Given the description of an element on the screen output the (x, y) to click on. 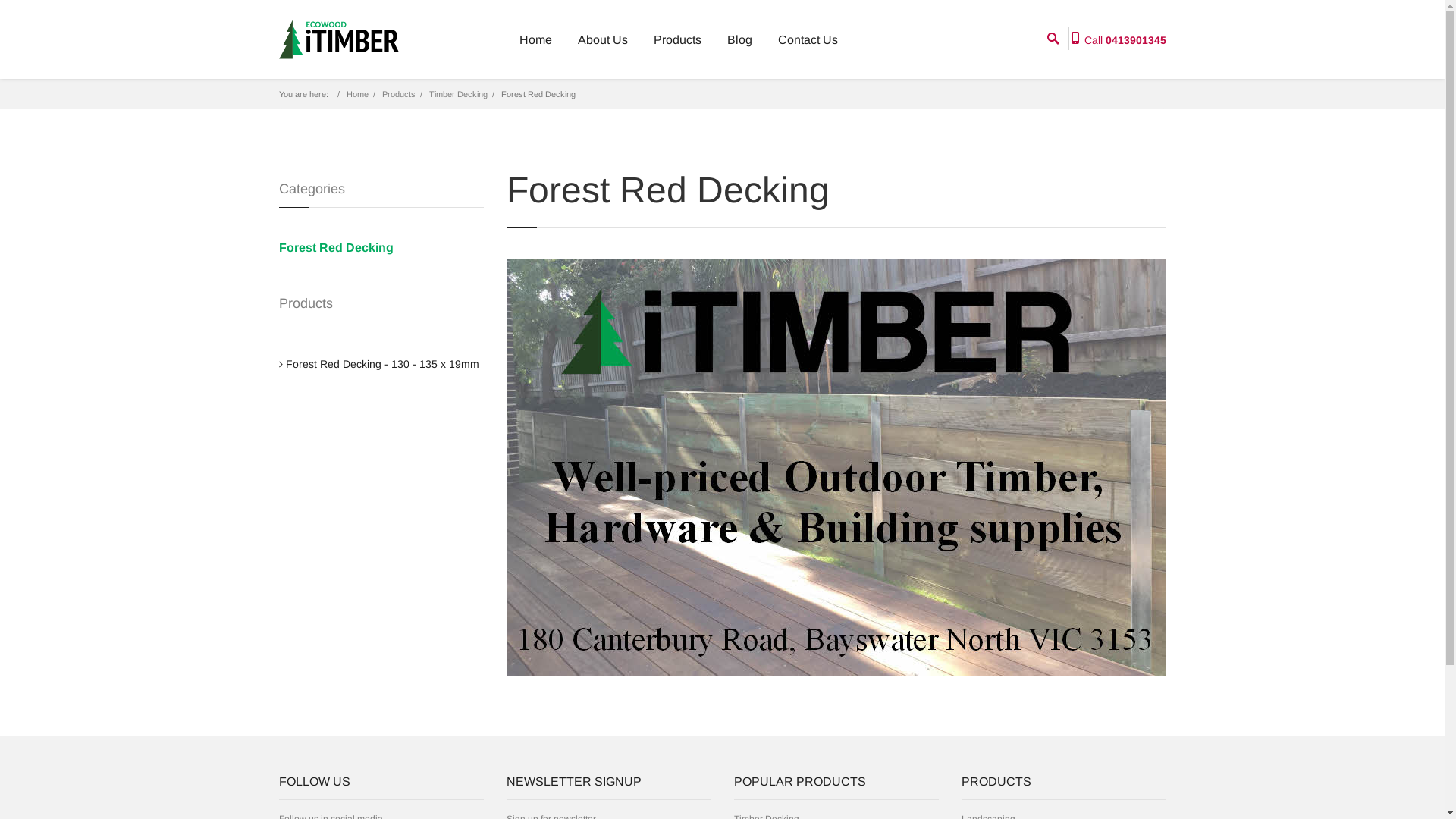
Timber Decking Element type: text (458, 93)
Home Element type: text (356, 93)
Contact Us Element type: text (807, 39)
Forest Red Decking Element type: text (381, 247)
Forest Red Decking - 130 - 135 x 19mm Element type: text (381, 363)
Products Element type: text (398, 93)
About Us Element type: text (602, 39)
Products Element type: text (677, 39)
Home Element type: text (534, 39)
Blog Element type: text (738, 39)
